Given the description of an element on the screen output the (x, y) to click on. 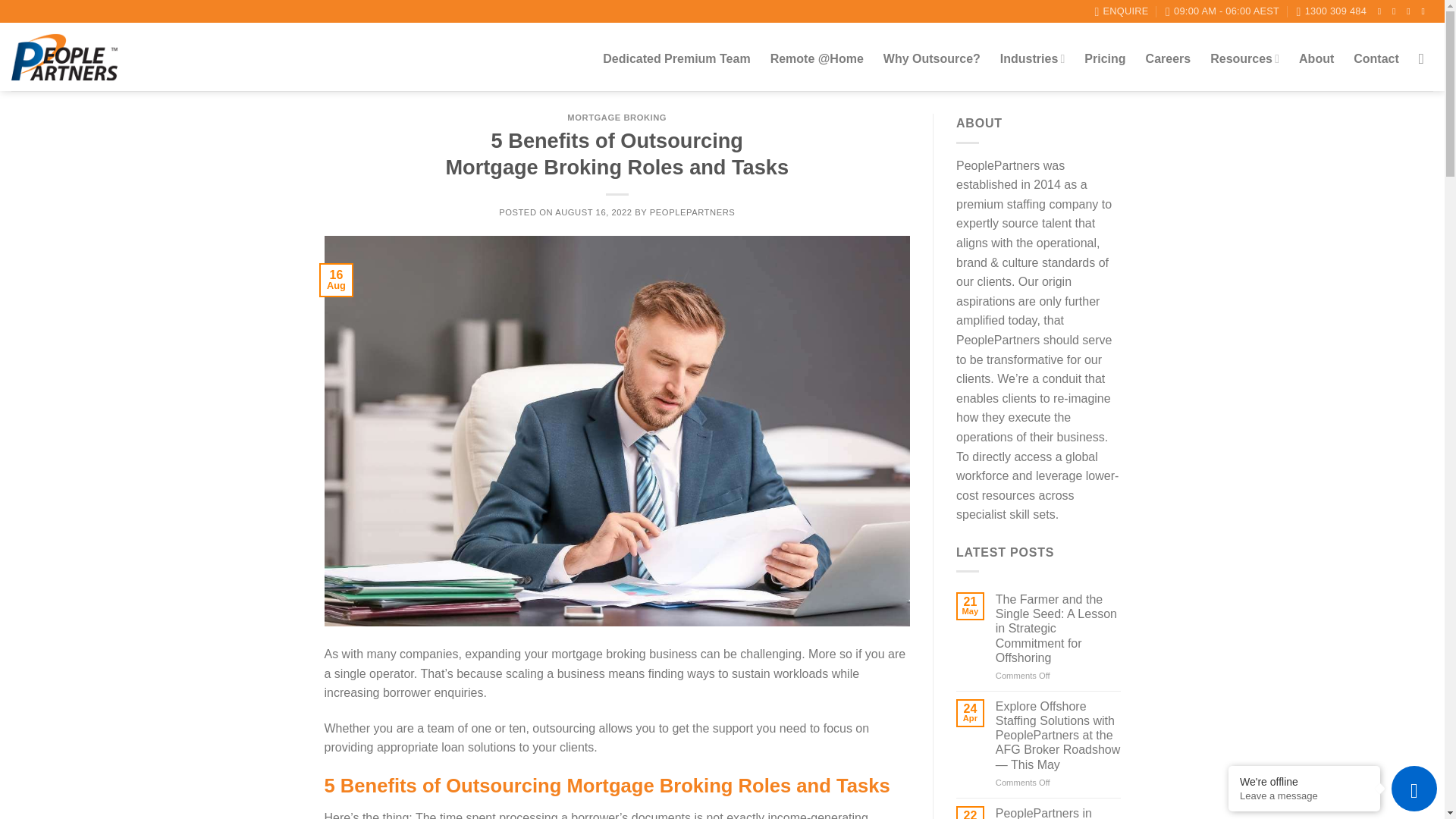
1300 309 484 (1332, 11)
About (1315, 58)
Why Outsource? (931, 58)
PEOPLEPARTNERS (692, 212)
Dedicated Premium Team (675, 58)
Pricing (1104, 58)
1300 309 484 (1332, 11)
MORTGAGE BROKING (616, 117)
AUGUST 16, 2022 (592, 212)
09:00 AM - 06:00 AEST (1222, 11)
PeoplePartners - Exceptional Offshore Staffing Solutions (64, 57)
Contact (1376, 58)
Careers (1168, 58)
ENQUIRE (1121, 11)
